Given the description of an element on the screen output the (x, y) to click on. 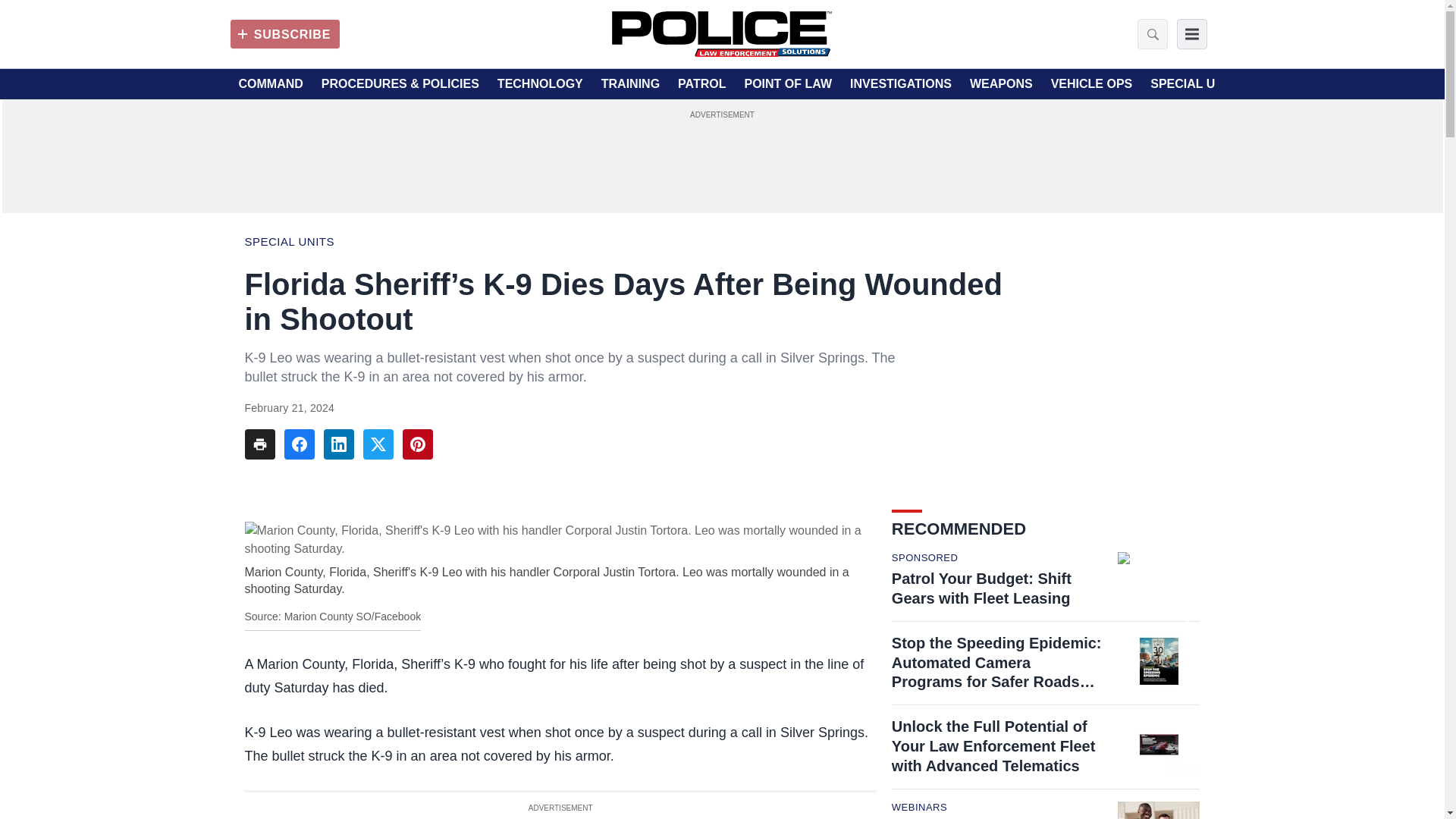
TRAINING (630, 84)
Search (1147, 33)
TECHNOLOGY (540, 84)
Share To twitter (377, 444)
SPECIAL UNITS (1196, 84)
Share To print (259, 444)
WEAPONS (1000, 84)
Share To linkedin (338, 444)
DIRECTORY (1296, 84)
SUBSCRIBE (284, 33)
COMMAND (270, 84)
Share To pinterest (416, 444)
Special Units (288, 241)
POINT OF LAW (787, 84)
VEHICLE OPS (1091, 84)
